Given the description of an element on the screen output the (x, y) to click on. 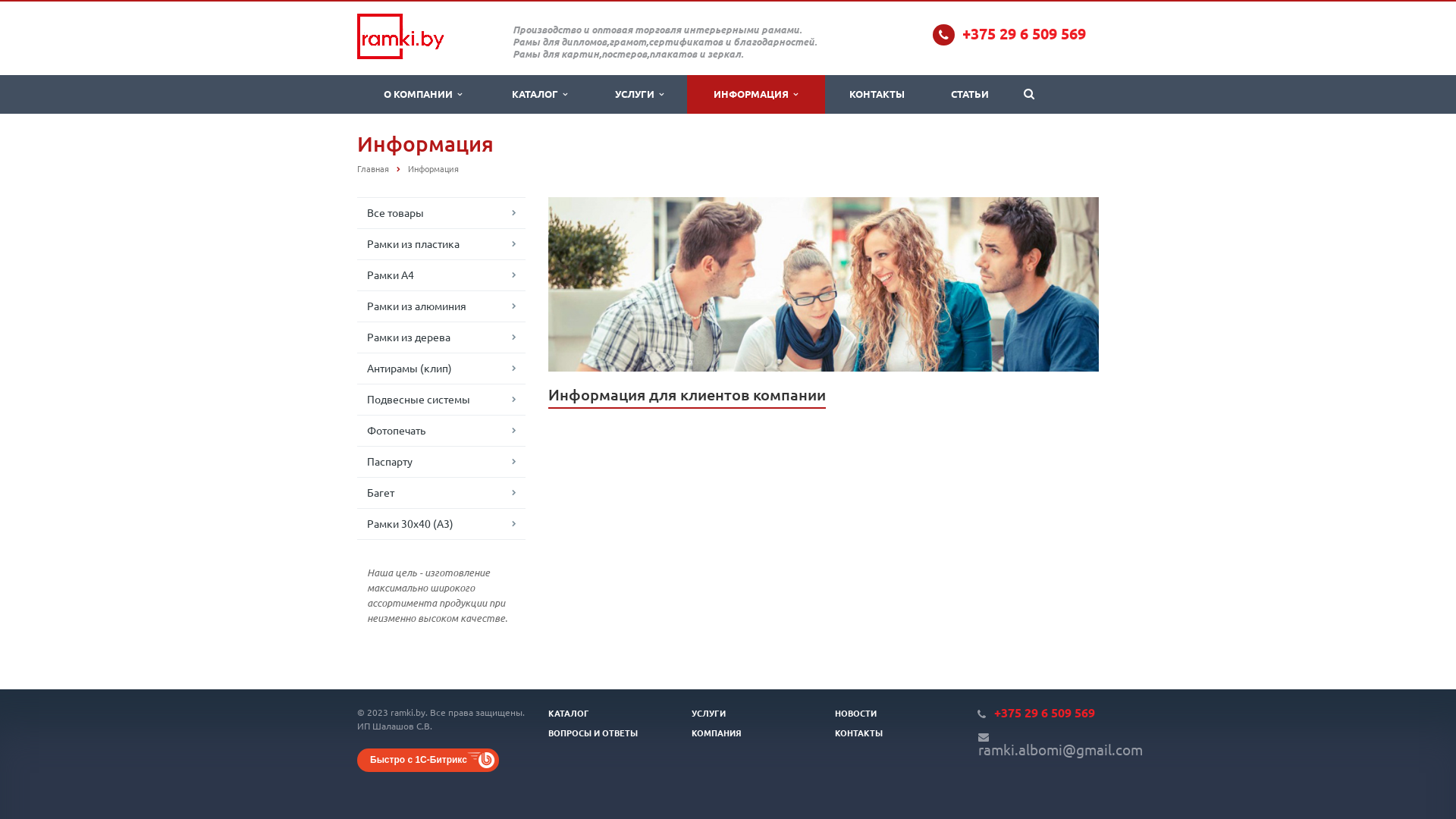
ramki.albomi@gmail.com Element type: text (1060, 751)
ramki.by Element type: hover (400, 36)
+375 29 6 509 569 Element type: text (1044, 712)
+375 29 6 509 569 Element type: text (1023, 33)
